Given the description of an element on the screen output the (x, y) to click on. 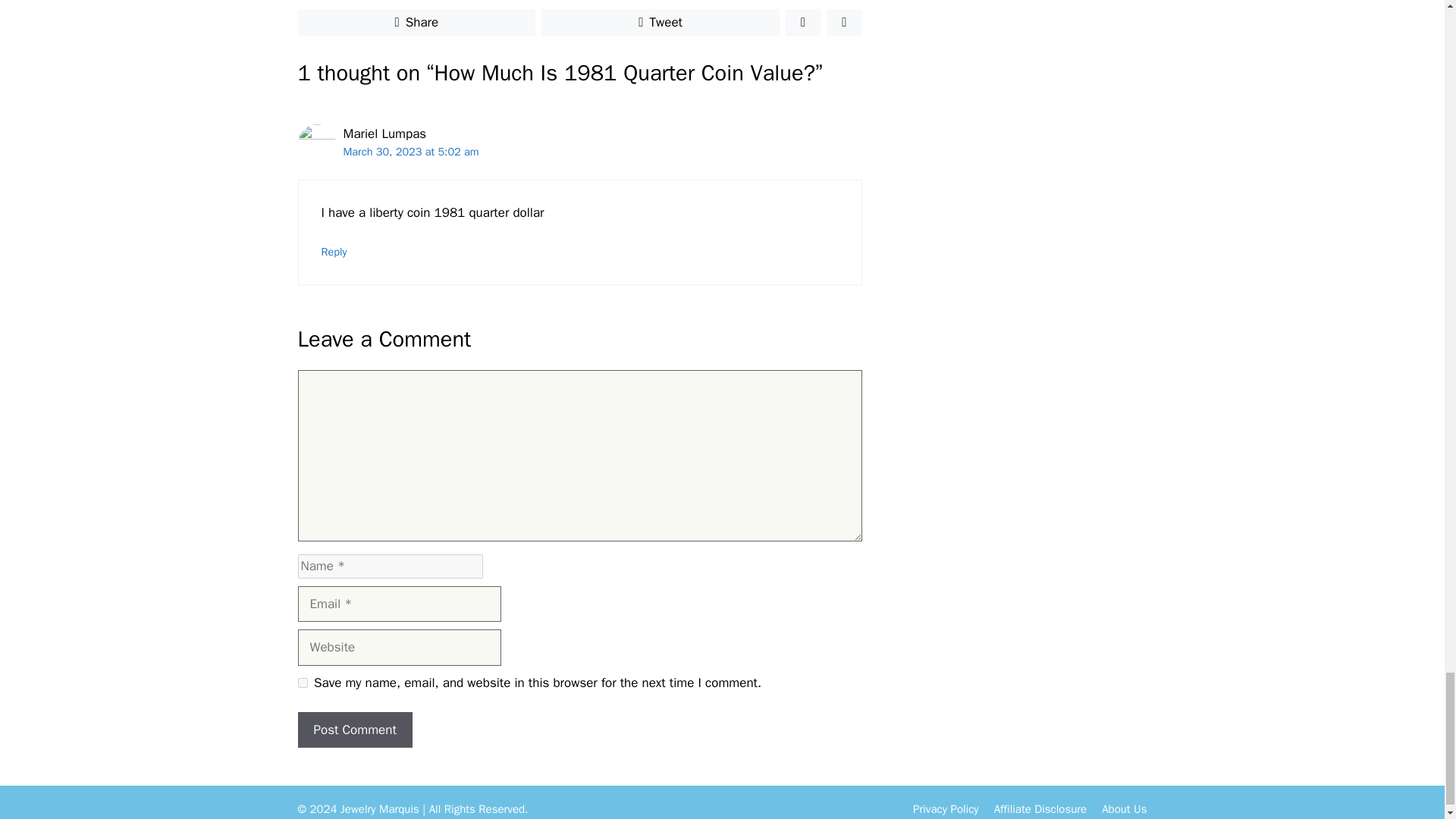
Post Comment (354, 729)
Post Comment (354, 729)
Tweet (659, 22)
Reply (334, 251)
Share (416, 22)
Privacy Policy (945, 808)
March 30, 2023 at 5:02 am (410, 151)
yes (302, 682)
